Given the description of an element on the screen output the (x, y) to click on. 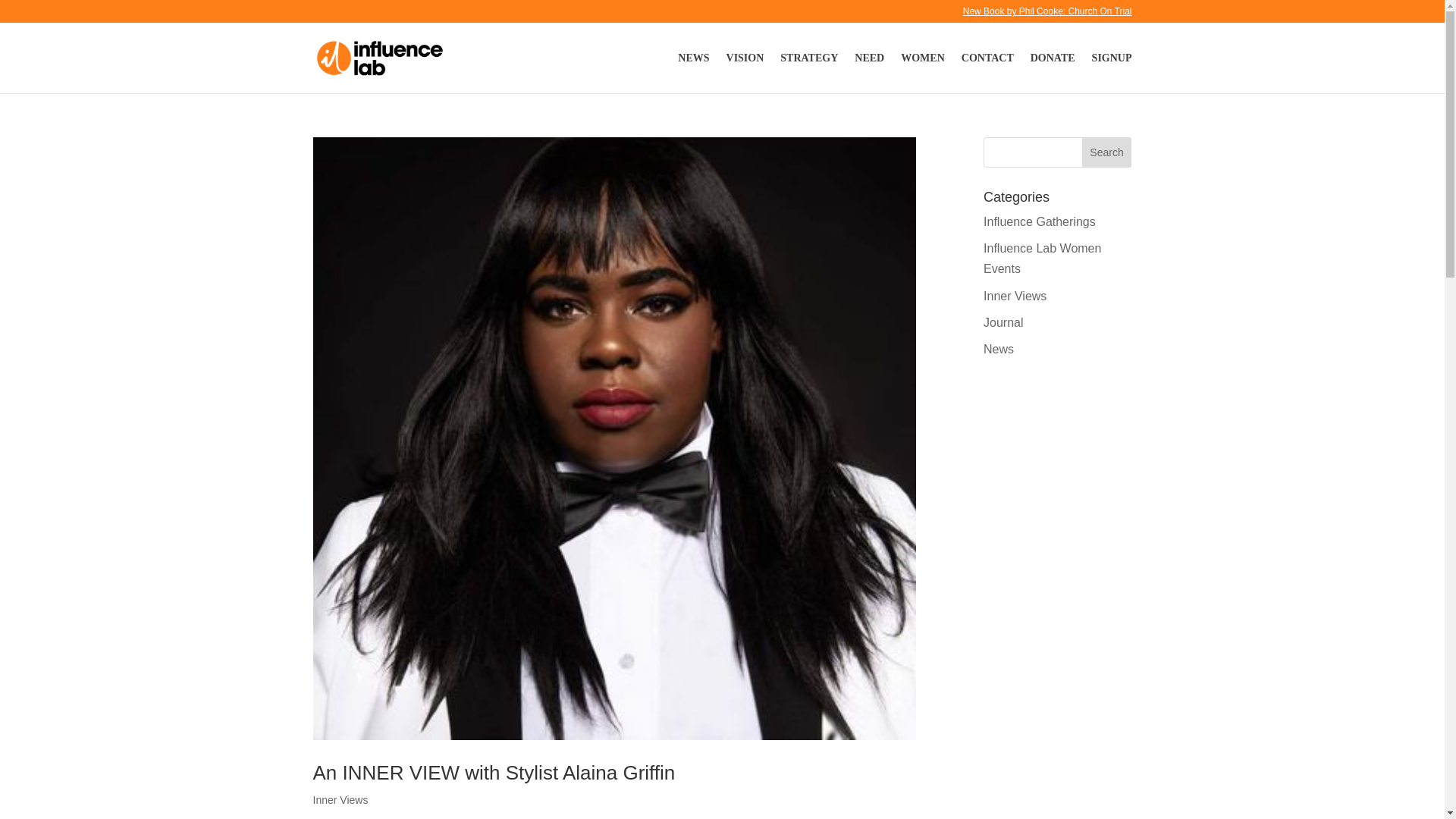
Influence Gatherings (1040, 221)
CONTACT (986, 70)
SIGNUP (1112, 70)
News (998, 349)
STRATEGY (809, 70)
New Book by Phil Cooke: Church On Trial (1047, 14)
Search (1106, 152)
Inner Views (340, 799)
Search (1106, 152)
DONATE (1052, 70)
Influence Lab Women Events (1042, 258)
An INNER VIEW with Stylist Alaina Griffin (494, 772)
Inner Views (1015, 295)
WOMEN (922, 70)
Journal (1003, 322)
